Given the description of an element on the screen output the (x, y) to click on. 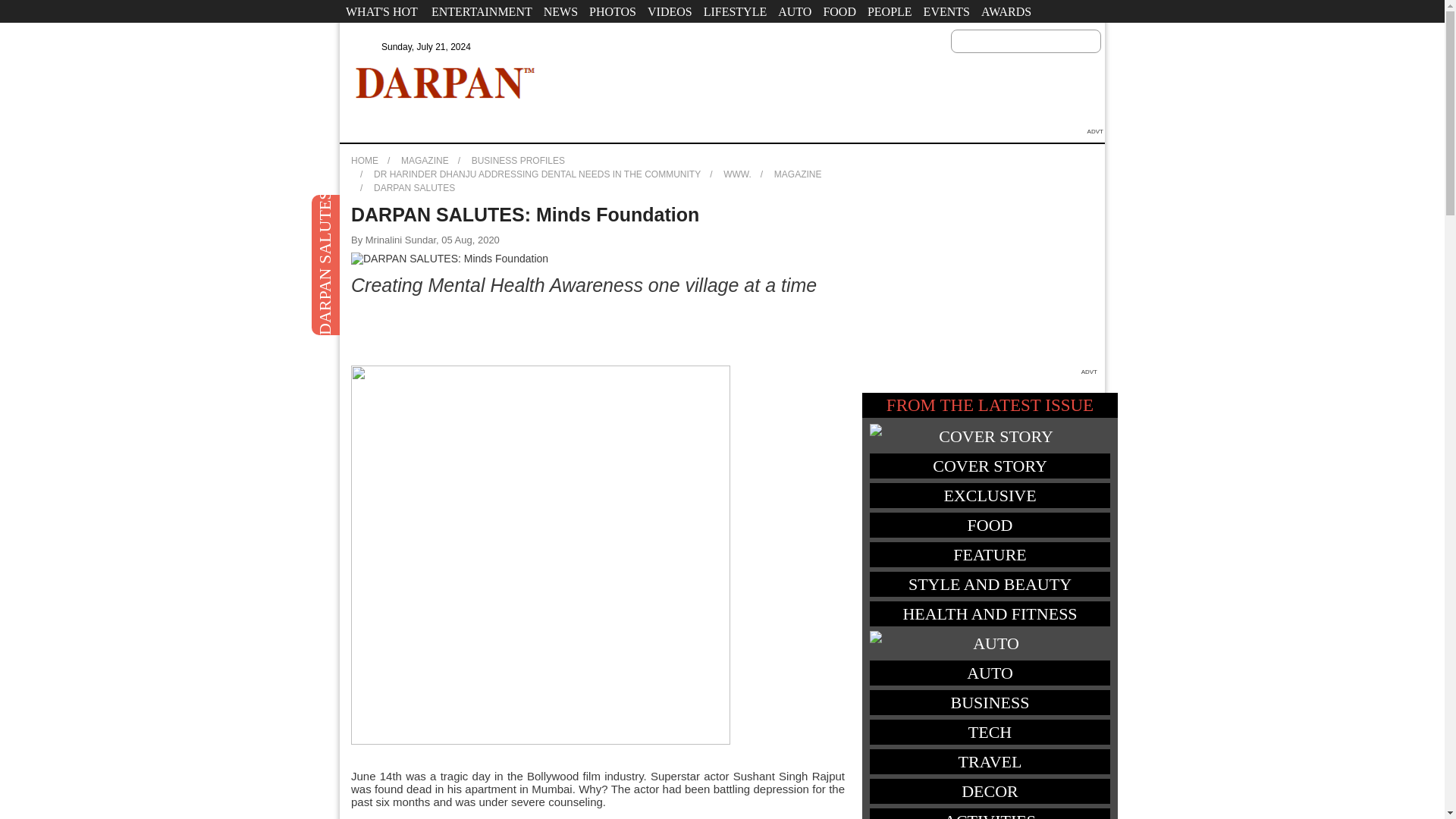
LIFESTYLE (735, 11)
EVENTS (947, 11)
Food (839, 11)
WHAT'S HOT (381, 11)
Awards (1005, 11)
BUSINESS PROFILES (517, 160)
HOME (364, 160)
VIDEOS (669, 11)
Lifestyle (735, 11)
Videos (669, 11)
MAGAZINE (424, 160)
DARPAN SALUTES (414, 187)
ENTERTAINMENT (481, 11)
DR HARINDER DHANJU ADDRESSING DENTAL NEEDS IN THE COMMUNITY (537, 173)
DARPAN PUBLICATION LTD (445, 82)
